Given the description of an element on the screen output the (x, y) to click on. 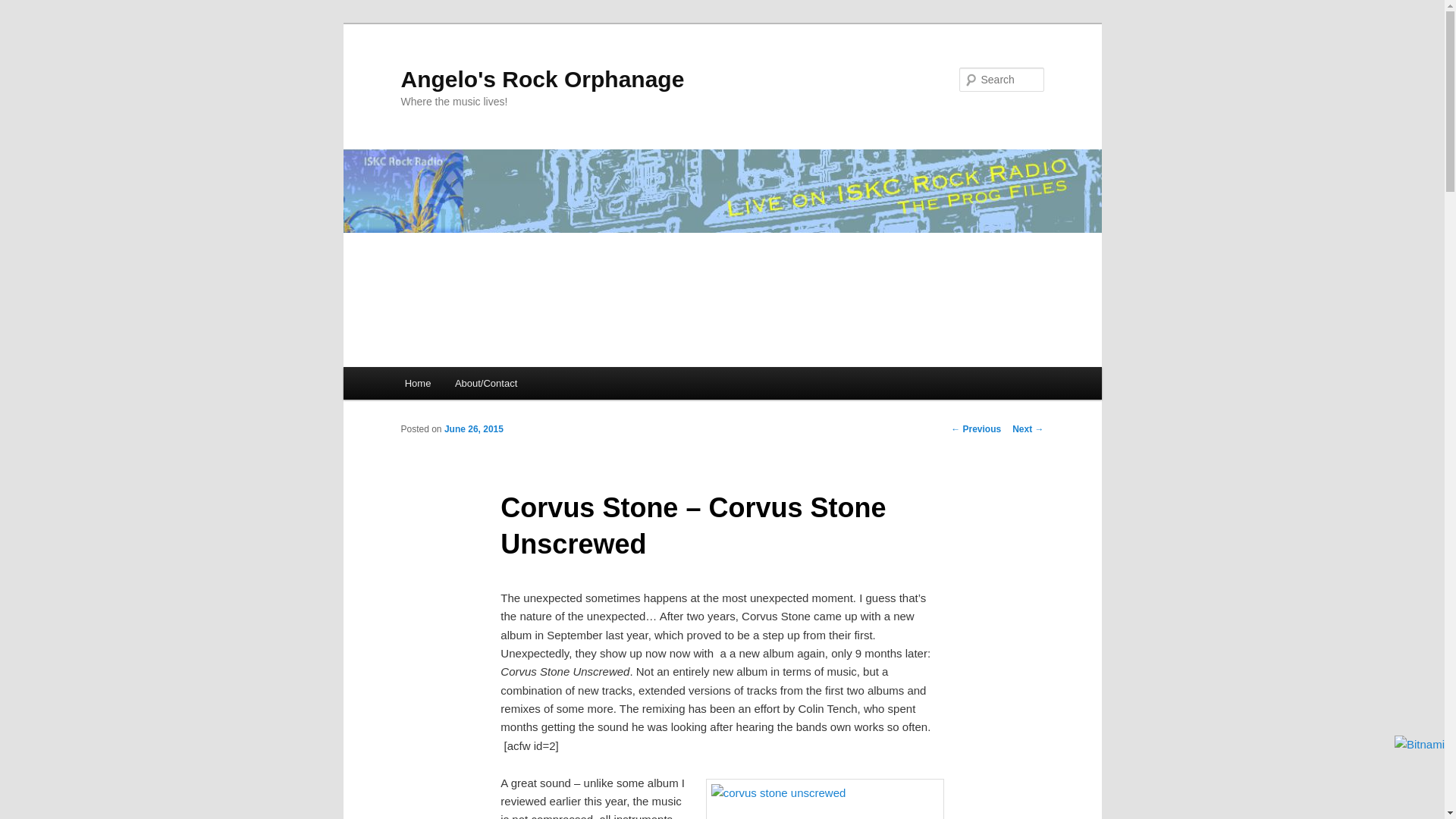
Angelo's Rock Orphanage (542, 78)
June 26, 2015 (473, 429)
Search (24, 8)
10:28 pm (473, 429)
Home (417, 382)
